Given the description of an element on the screen output the (x, y) to click on. 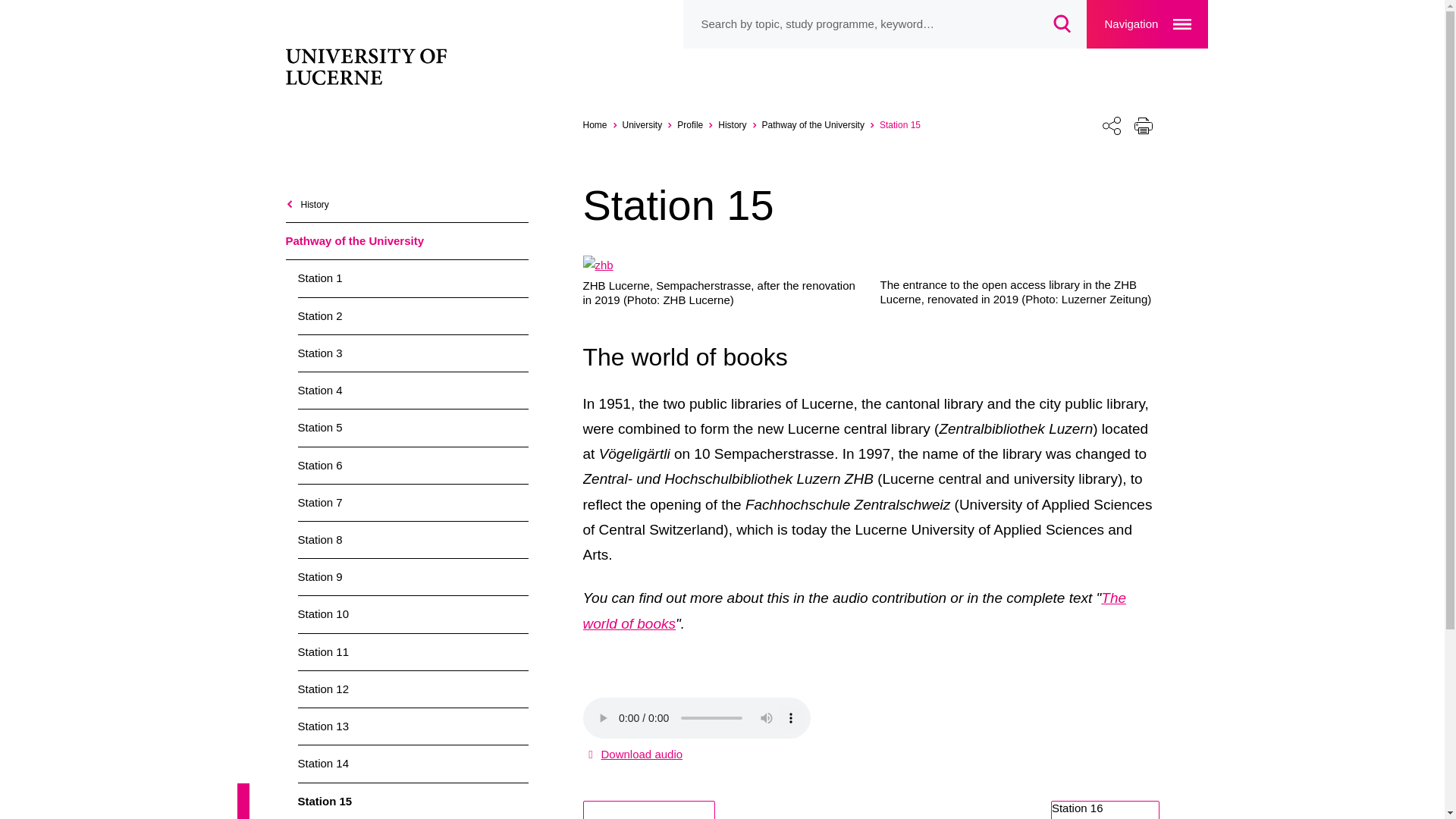
History (739, 124)
Station 1 (412, 278)
Station 2 (412, 316)
Station 7 (412, 502)
Profile (697, 124)
Print (1142, 124)
University of Lucerne (601, 124)
Station 1 (412, 278)
University of Lucerne (373, 67)
